Given the description of an element on the screen output the (x, y) to click on. 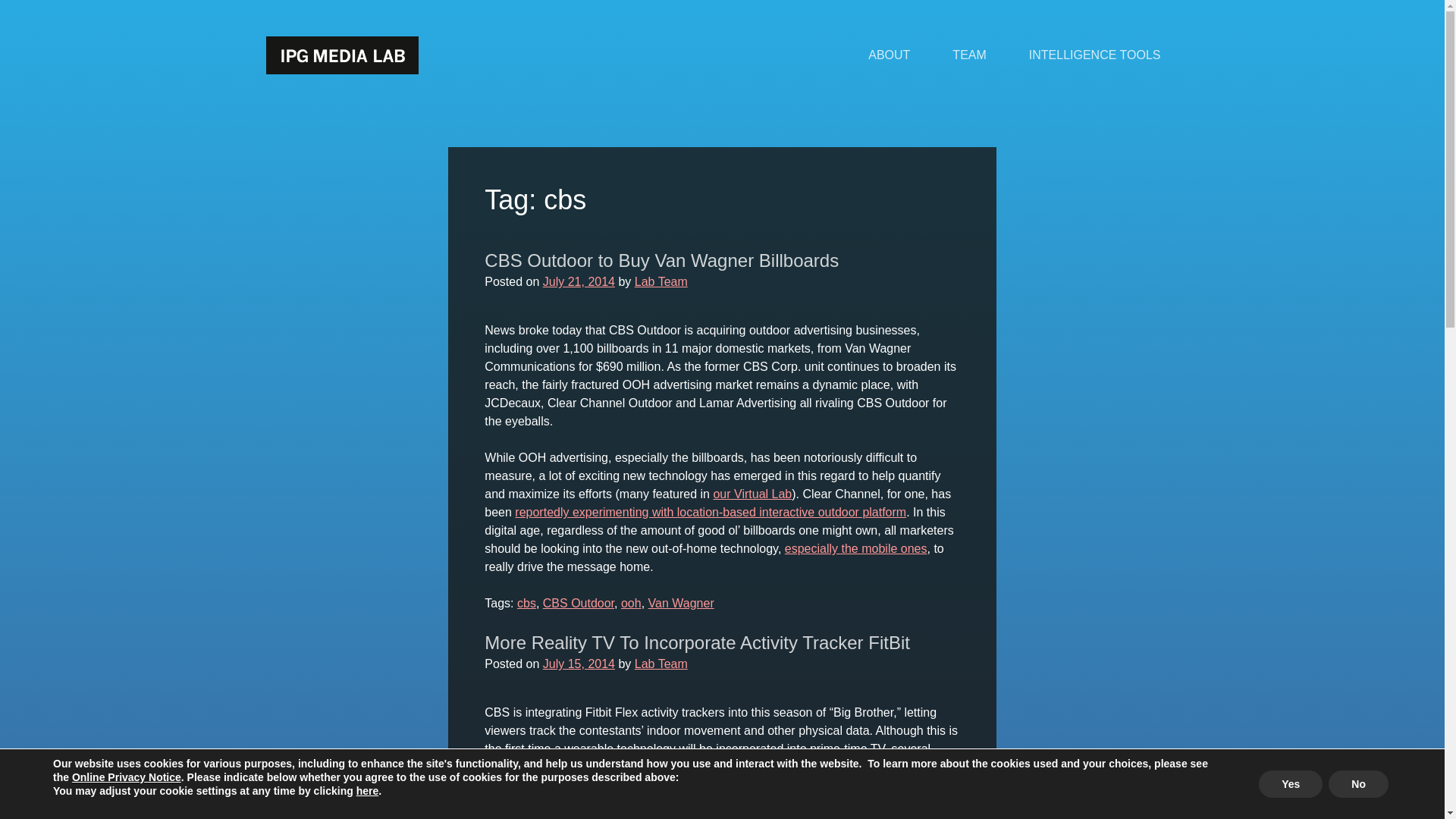
ooh (631, 603)
Lab Team (660, 281)
July 15, 2014 (578, 663)
CBS Outdoor to Buy Van Wagner Billboards (661, 260)
cbs (525, 603)
Van Wagner (680, 603)
CBS Outdoor (578, 603)
July 21, 2014 (578, 281)
especially the mobile ones (855, 548)
ABOUT (889, 55)
our Virtual Lab (752, 493)
Lab Team (660, 663)
More Reality TV To Incorporate Activity Tracker FitBit (697, 642)
